Given the description of an element on the screen output the (x, y) to click on. 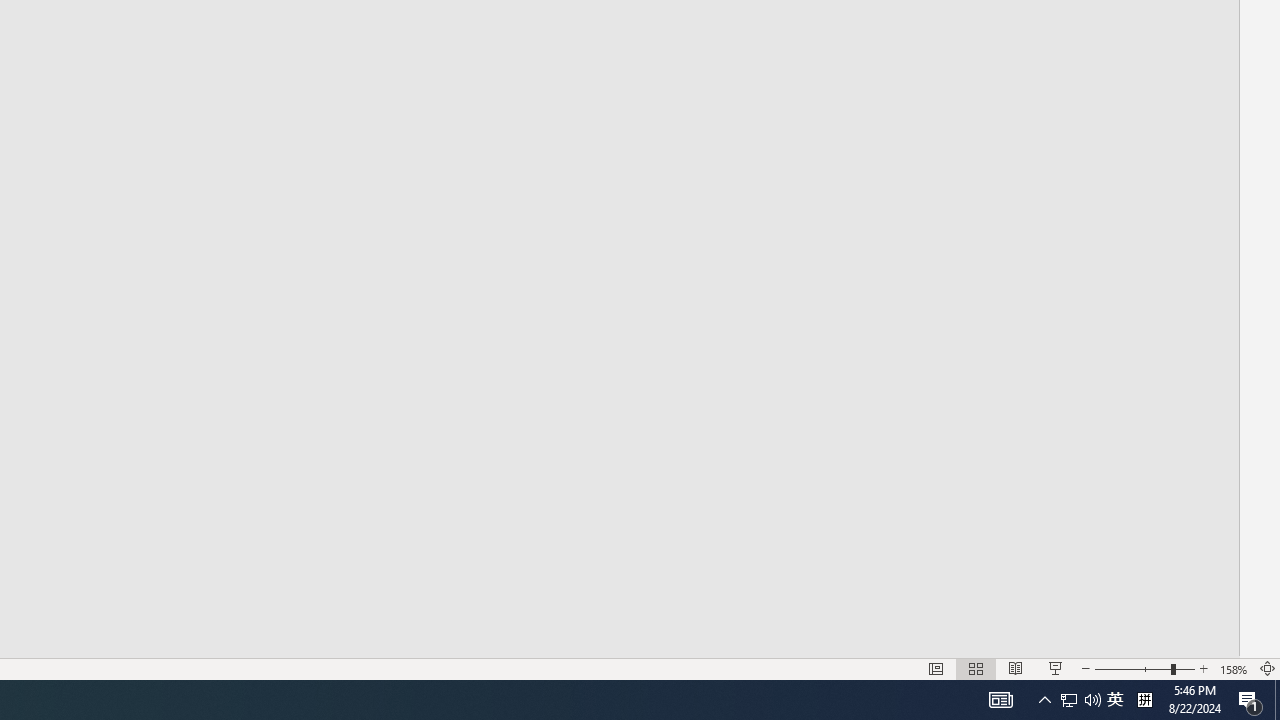
Zoom 158% (1234, 668)
